Given the description of an element on the screen output the (x, y) to click on. 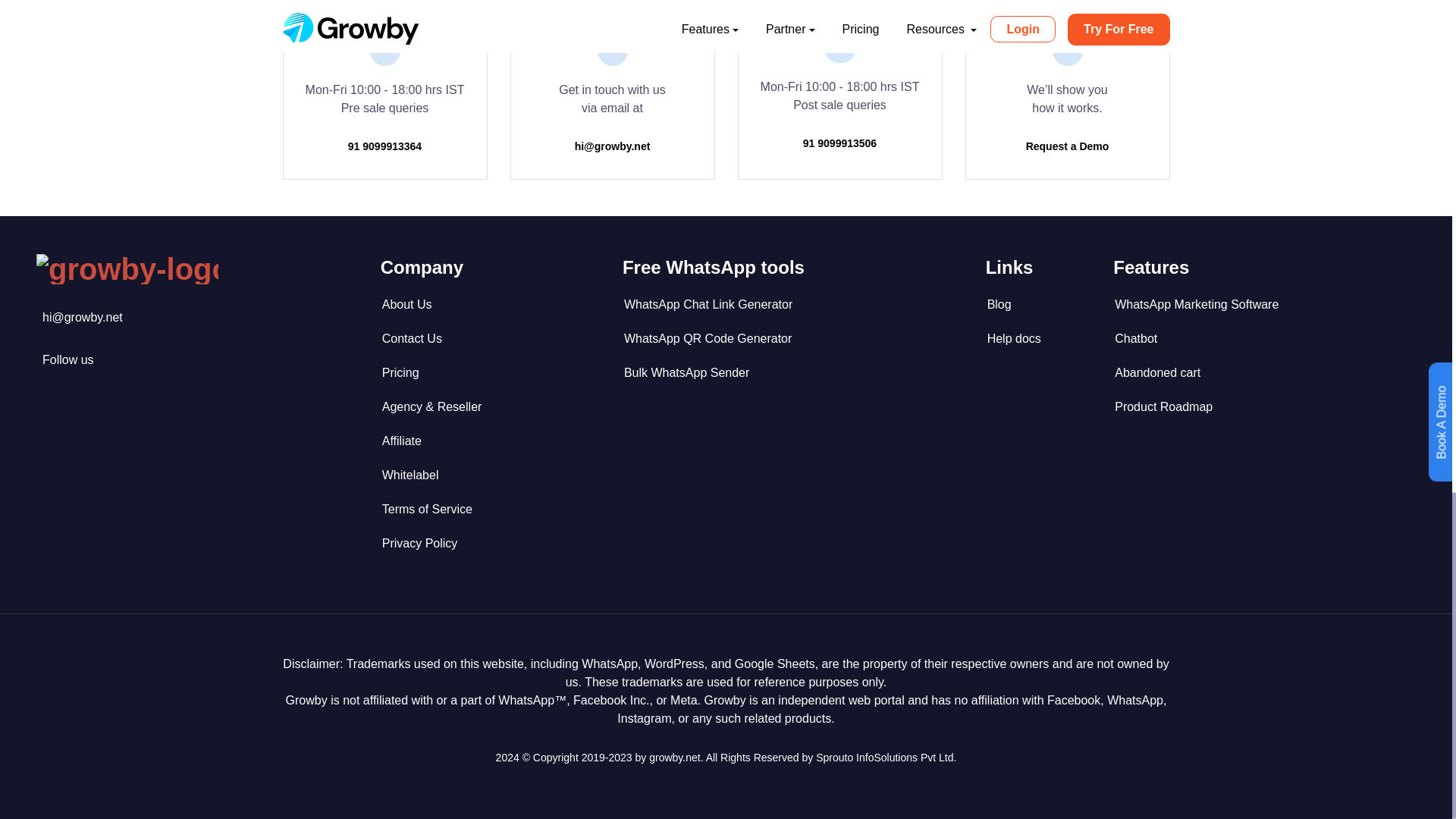
91 9099913364 (384, 146)
Growby YouTube (68, 359)
Growby YouTube (82, 317)
